Given the description of an element on the screen output the (x, y) to click on. 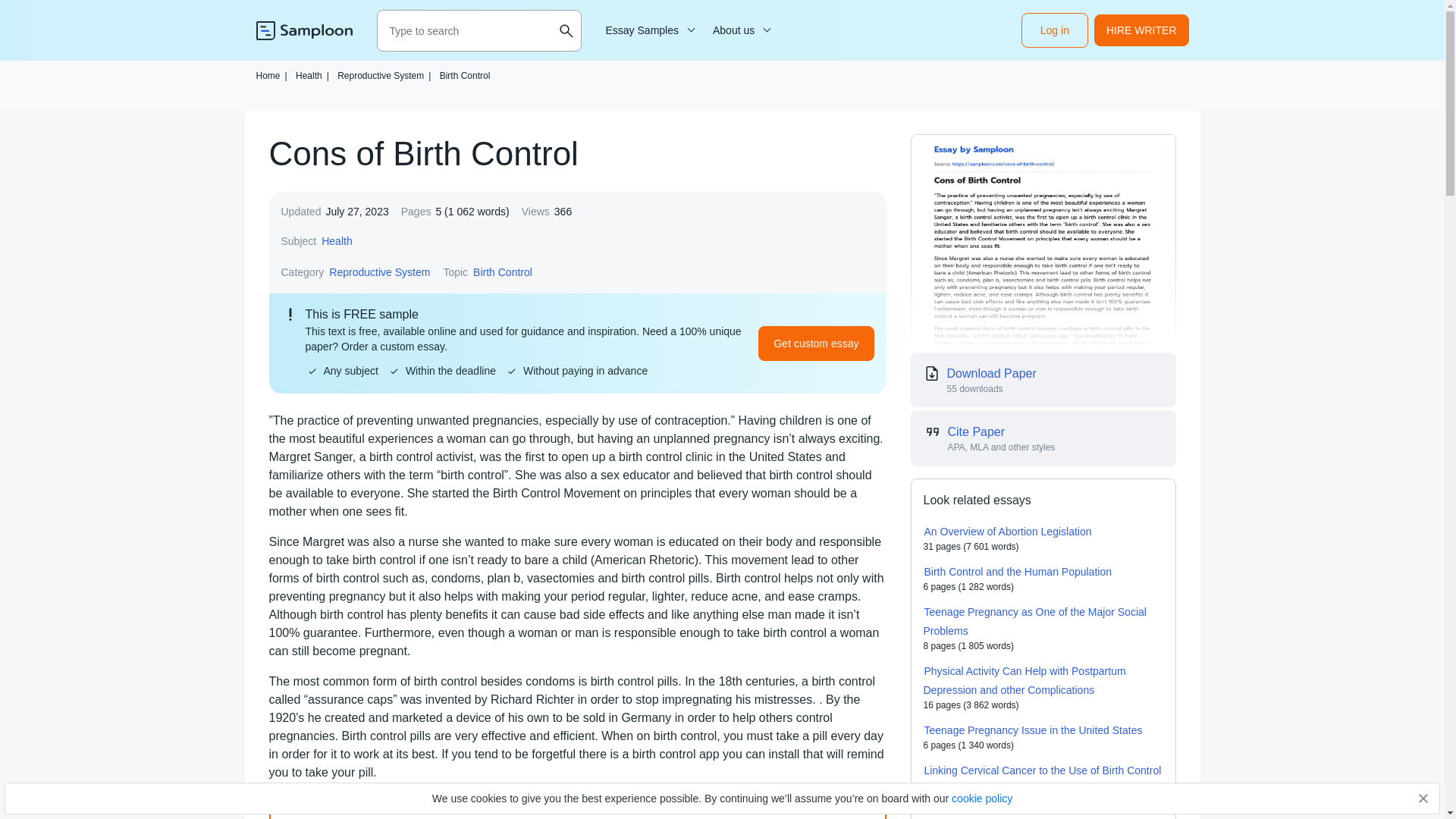
Reproductive System (379, 272)
About us (739, 30)
Health (336, 241)
Birth Control (501, 272)
Essay Samples (647, 30)
Birth Control (464, 75)
